Given the description of an element on the screen output the (x, y) to click on. 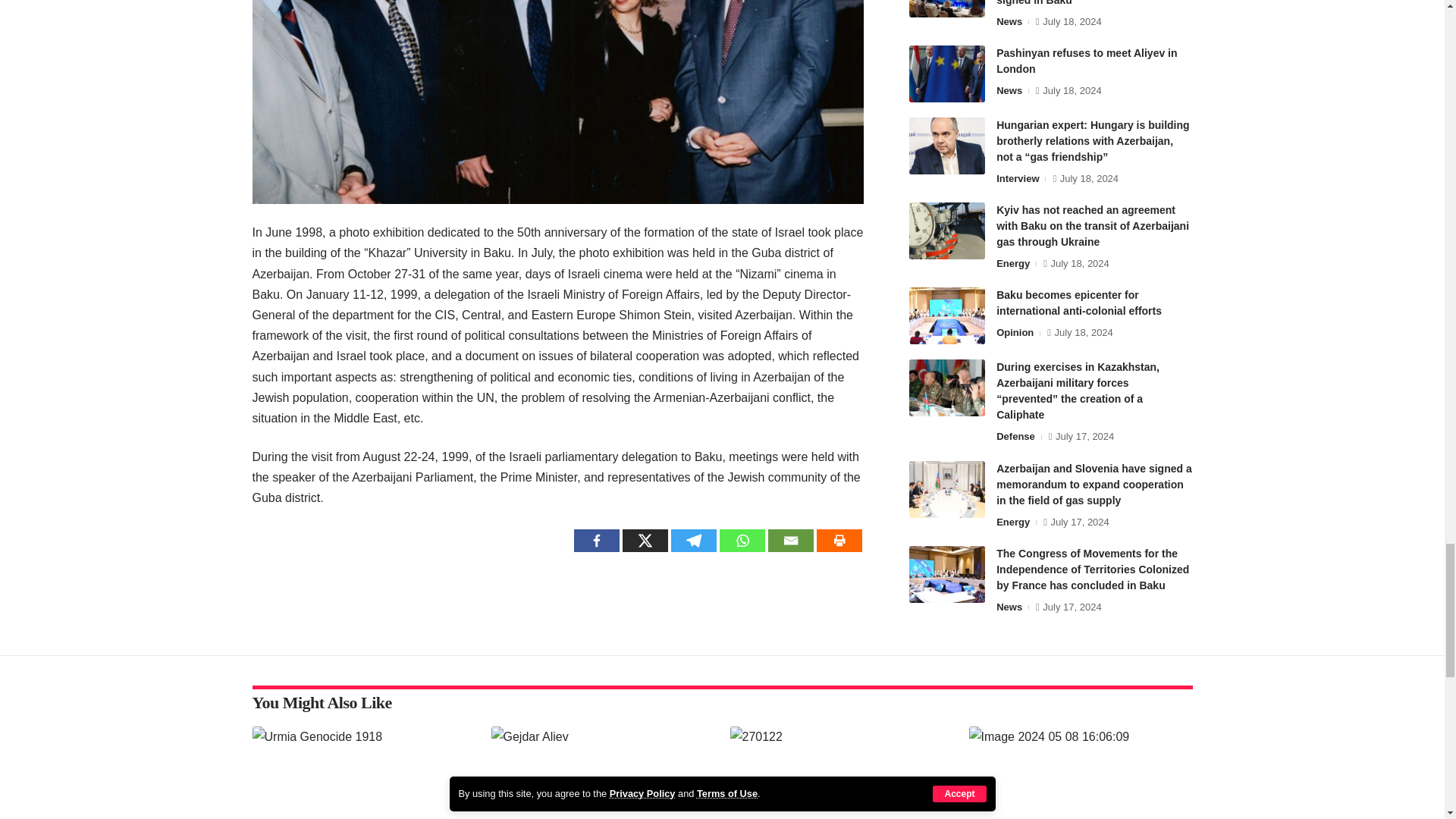
Telegram (693, 540)
Facebook (596, 540)
X (645, 540)
Print (838, 540)
Whatsapp (742, 540)
Email (790, 540)
